Given the description of an element on the screen output the (x, y) to click on. 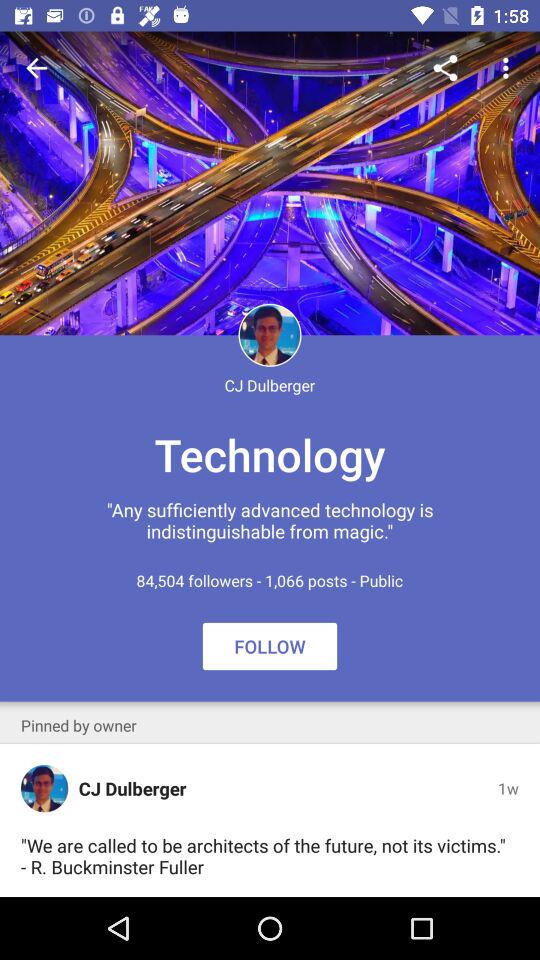
press icon above the we are called icon (269, 646)
